Given the description of an element on the screen output the (x, y) to click on. 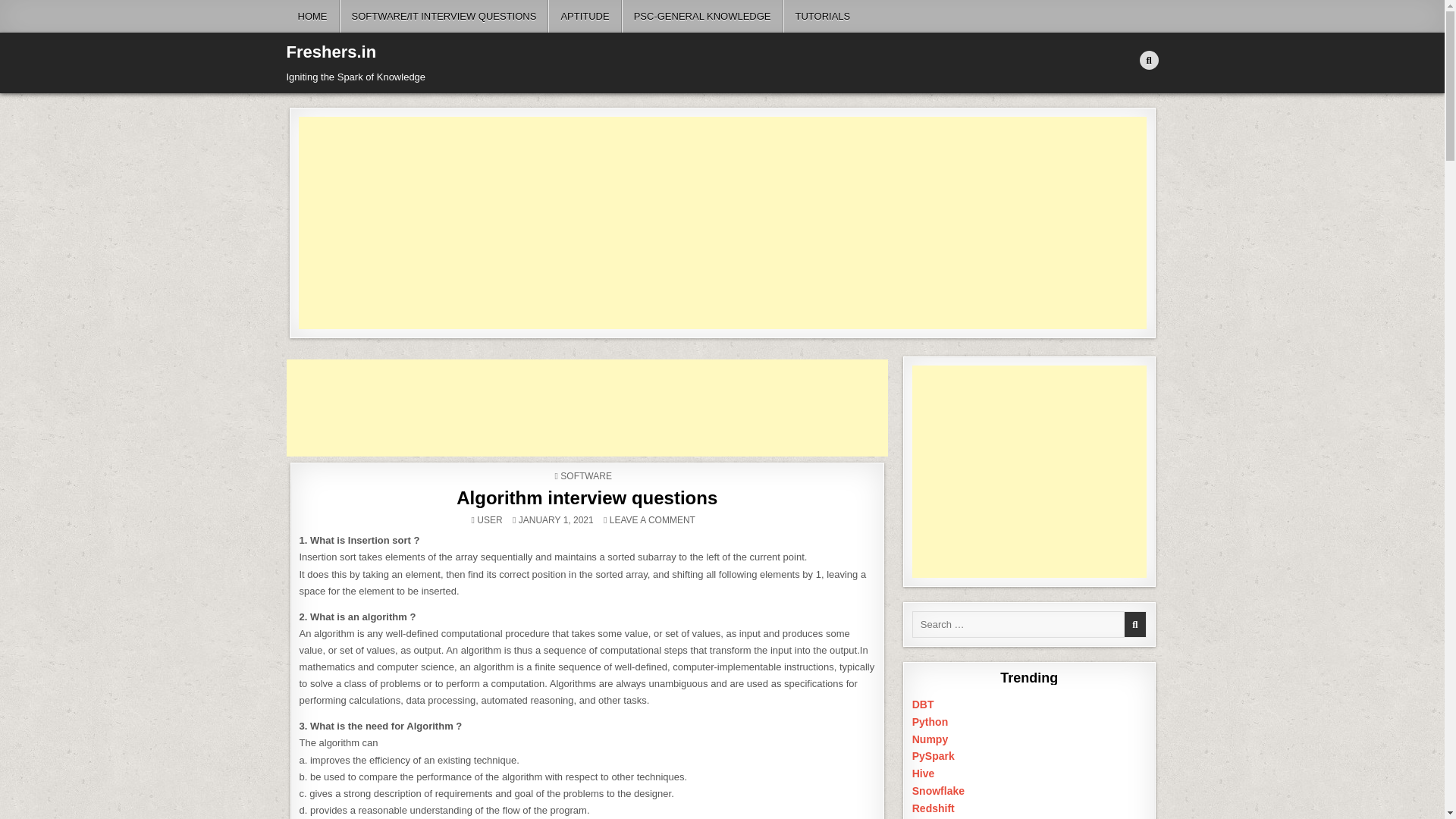
USER (489, 519)
APTITUDE (584, 16)
TUTORIALS (652, 519)
PSC-GENERAL KNOWLEDGE (822, 16)
Advertisement (702, 16)
SOFTWARE (312, 16)
Algorithm interview questions (585, 475)
Advertisement (587, 497)
